Given the description of an element on the screen output the (x, y) to click on. 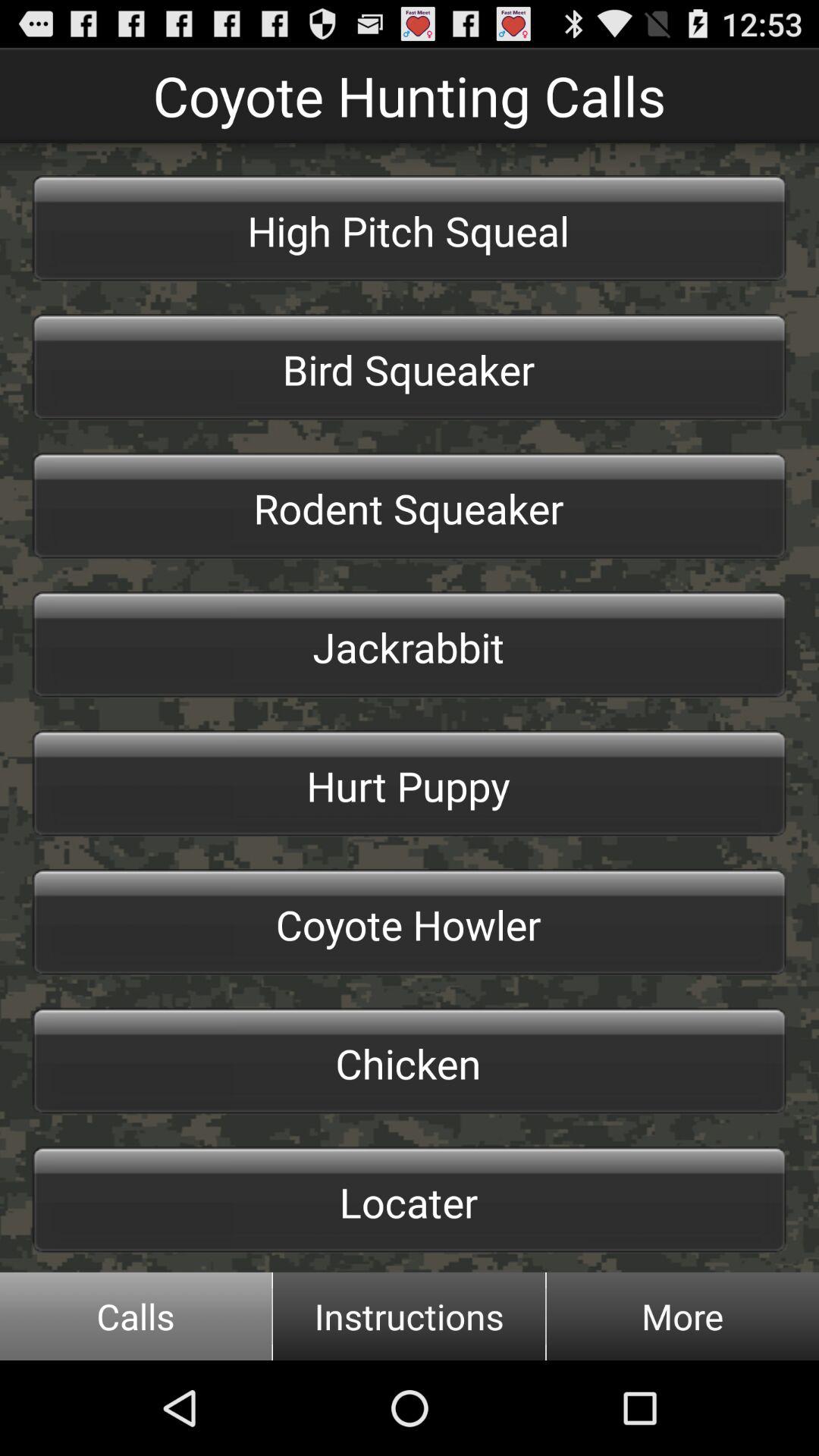
select hurt puppy button (409, 783)
